Given the description of an element on the screen output the (x, y) to click on. 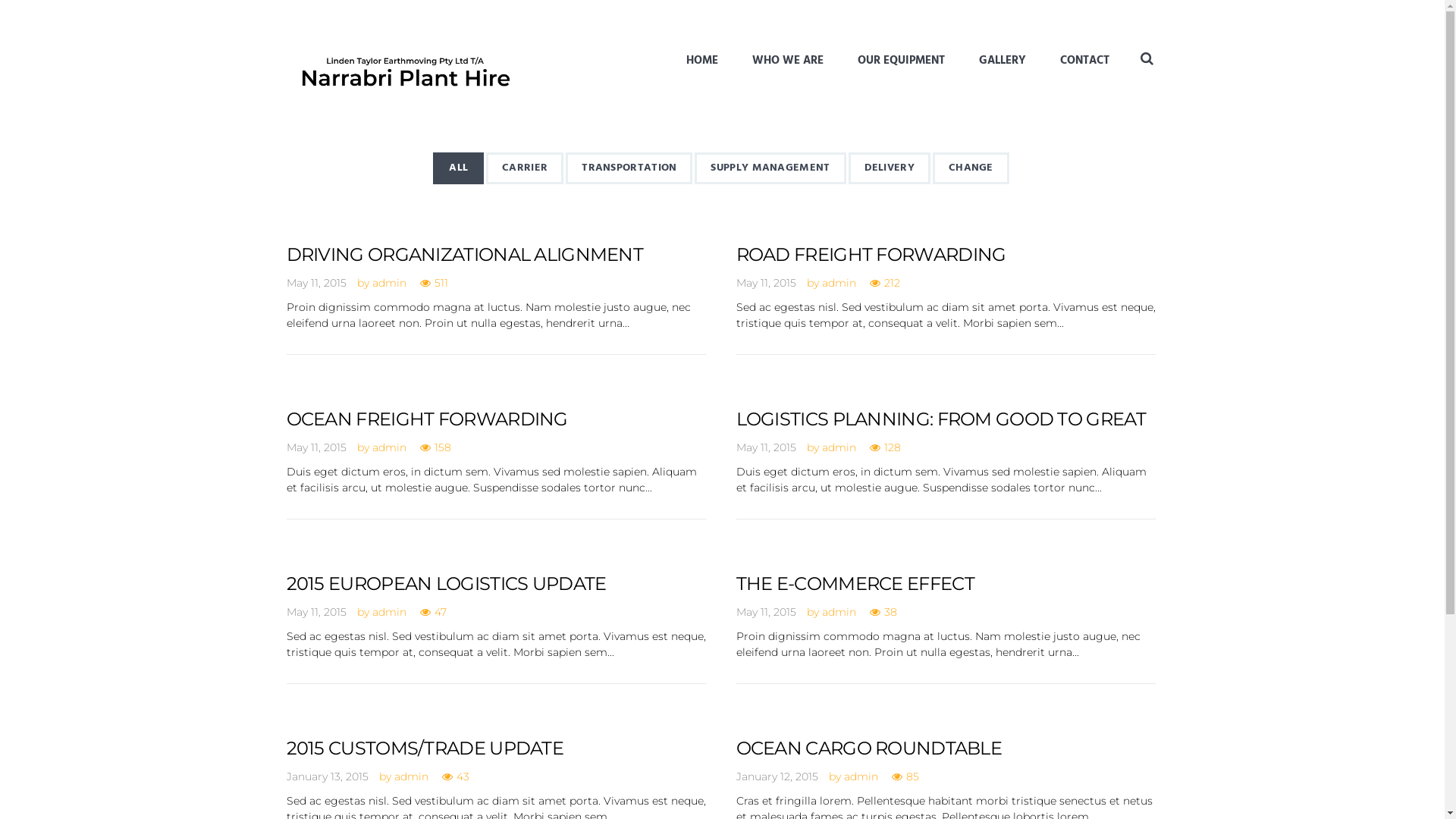
TRANSPORTATION Element type: text (628, 168)
OUR EQUIPMENT Element type: text (900, 61)
May 11, 2015 Element type: text (765, 612)
May 11, 2015 Element type: text (316, 447)
OCEAN CARGO ROUNDTABLE Element type: text (868, 748)
DELIVERY Element type: text (889, 168)
HOME Element type: text (701, 61)
admin Element type: text (411, 776)
ALL Element type: text (458, 168)
admin Element type: text (839, 283)
85 Element type: text (905, 776)
511 Element type: text (434, 283)
THE E-COMMERCE EFFECT Element type: text (854, 584)
38 Element type: text (882, 612)
May 11, 2015 Element type: text (316, 283)
2015 CUSTOMS/TRADE UPDATE Element type: text (425, 748)
LOGISTICS PLANNING: FROM GOOD TO GREAT Element type: text (940, 419)
158 Element type: text (435, 447)
January 13, 2015 Element type: text (327, 776)
January 12, 2015 Element type: text (776, 776)
admin Element type: text (388, 612)
ROAD FREIGHT FORWARDING Element type: text (870, 254)
admin Element type: text (860, 776)
OCEAN FREIGHT FORWARDING Element type: text (426, 419)
CHANGE Element type: text (970, 168)
128 Element type: text (884, 447)
admin Element type: text (388, 447)
admin Element type: text (839, 612)
GALLERY Element type: text (1001, 61)
Open search Element type: hover (1146, 58)
DRIVING ORGANIZATIONAL ALIGNMENT Element type: text (464, 254)
43 Element type: text (454, 776)
212 Element type: text (884, 283)
CARRIER Element type: text (524, 168)
2015 EUROPEAN LOGISTICS UPDATE Element type: text (446, 584)
May 11, 2015 Element type: text (316, 612)
admin Element type: text (839, 447)
May 11, 2015 Element type: text (765, 447)
May 11, 2015 Element type: text (765, 283)
admin Element type: text (388, 283)
SUPPLY MANAGEMENT Element type: text (769, 168)
CONTACT Element type: text (1084, 61)
47 Element type: text (433, 612)
WHO WE ARE Element type: text (787, 61)
